Given the description of an element on the screen output the (x, y) to click on. 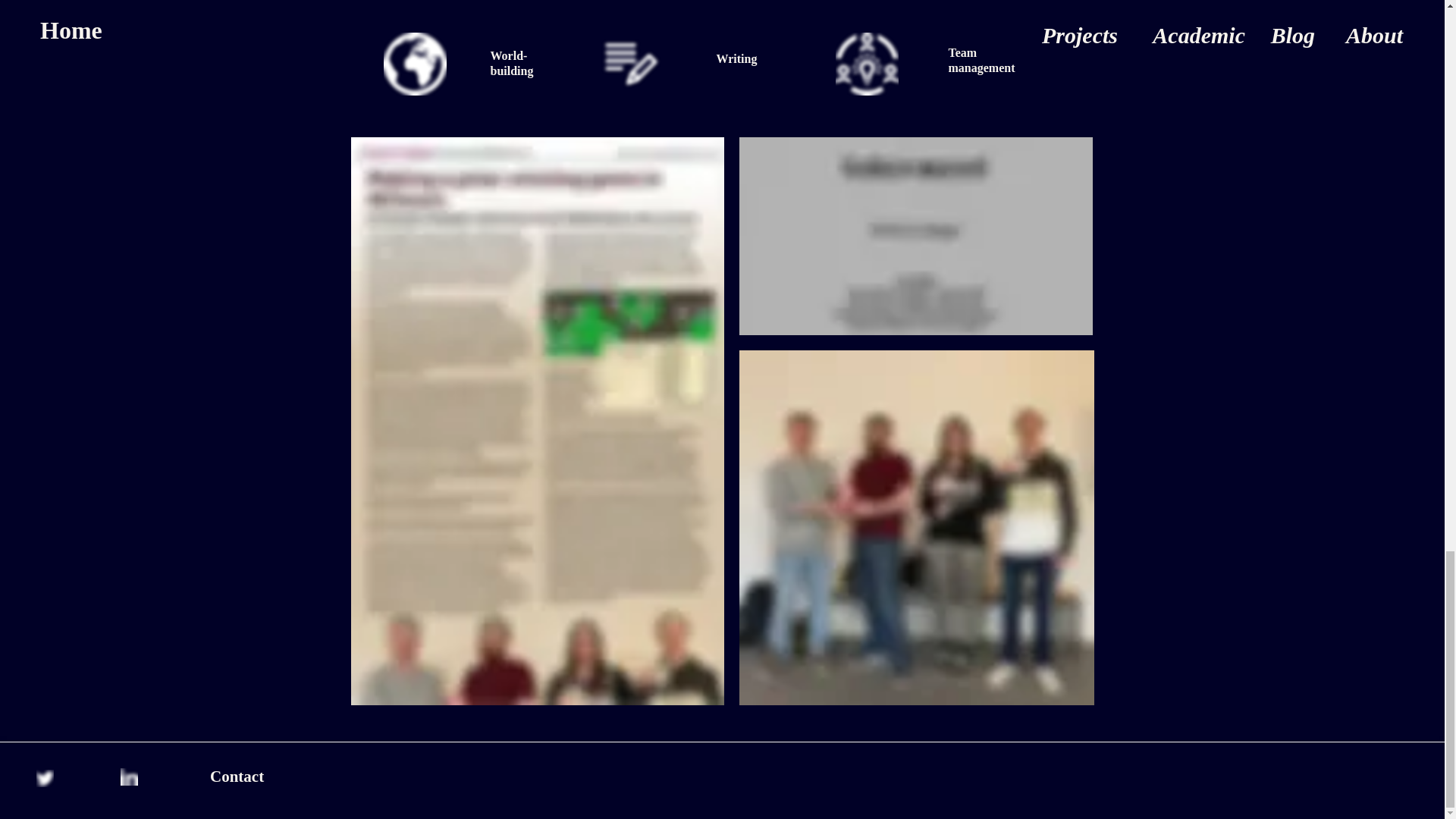
Contact (236, 775)
